Given the description of an element on the screen output the (x, y) to click on. 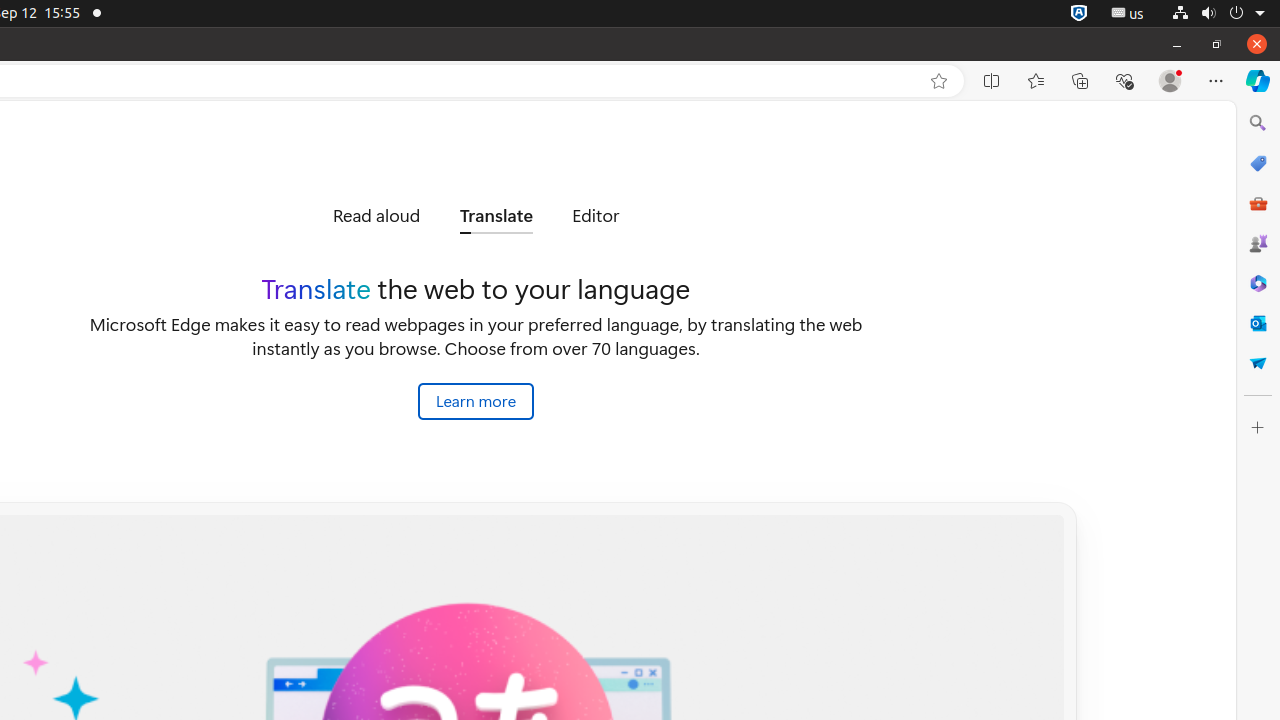
Drop Element type: push-button (1258, 363)
Split screen Element type: push-button (992, 81)
Tools Element type: push-button (1258, 202)
Scroll to next Element type: push-button (681, 216)
Scroll to previous Element type: push-button (270, 216)
